Given the description of an element on the screen output the (x, y) to click on. 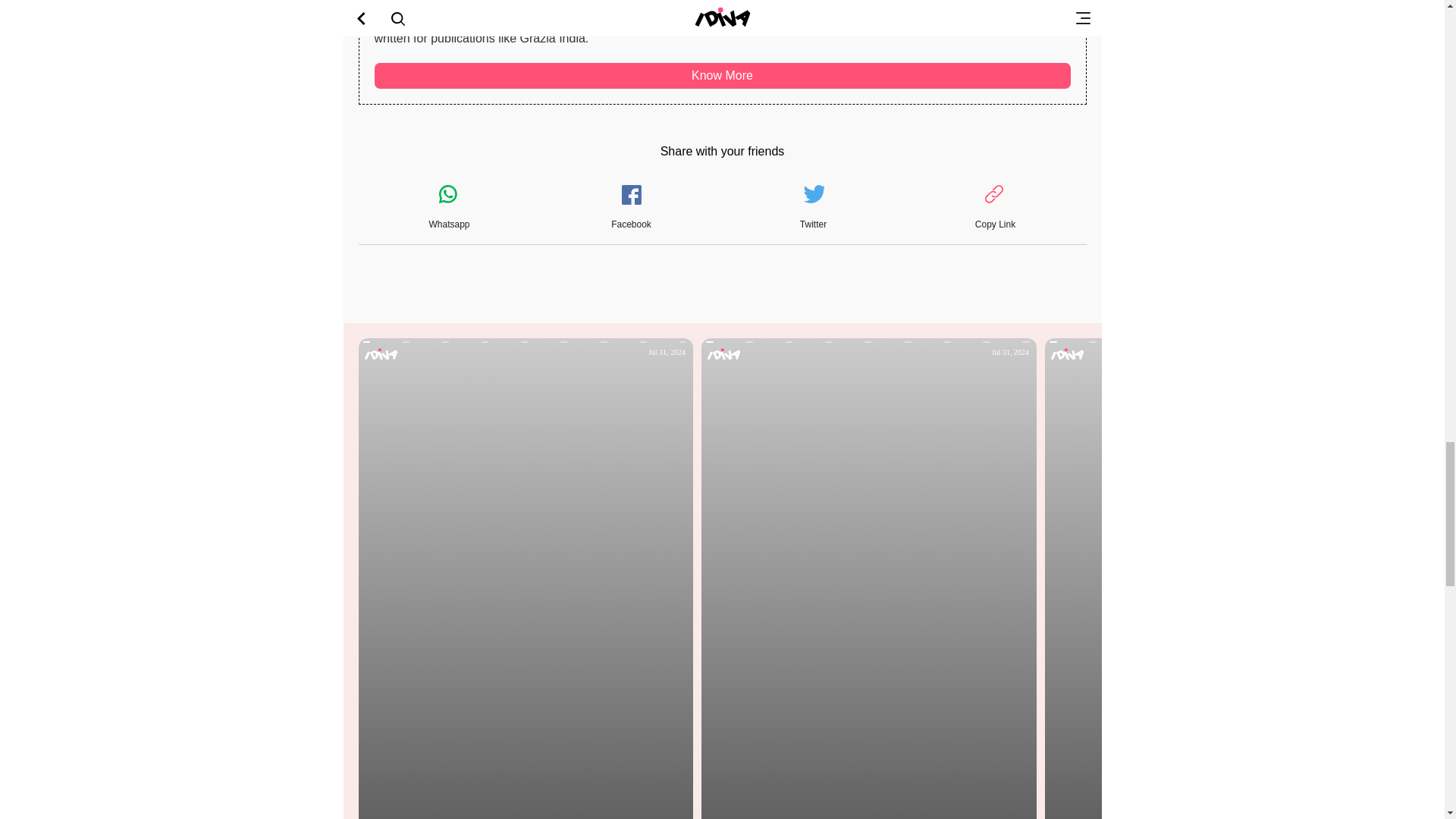
Know More (722, 75)
Facebook (631, 207)
Whatsapp (449, 207)
Twitter (813, 207)
Copy Link (995, 207)
